Given the description of an element on the screen output the (x, y) to click on. 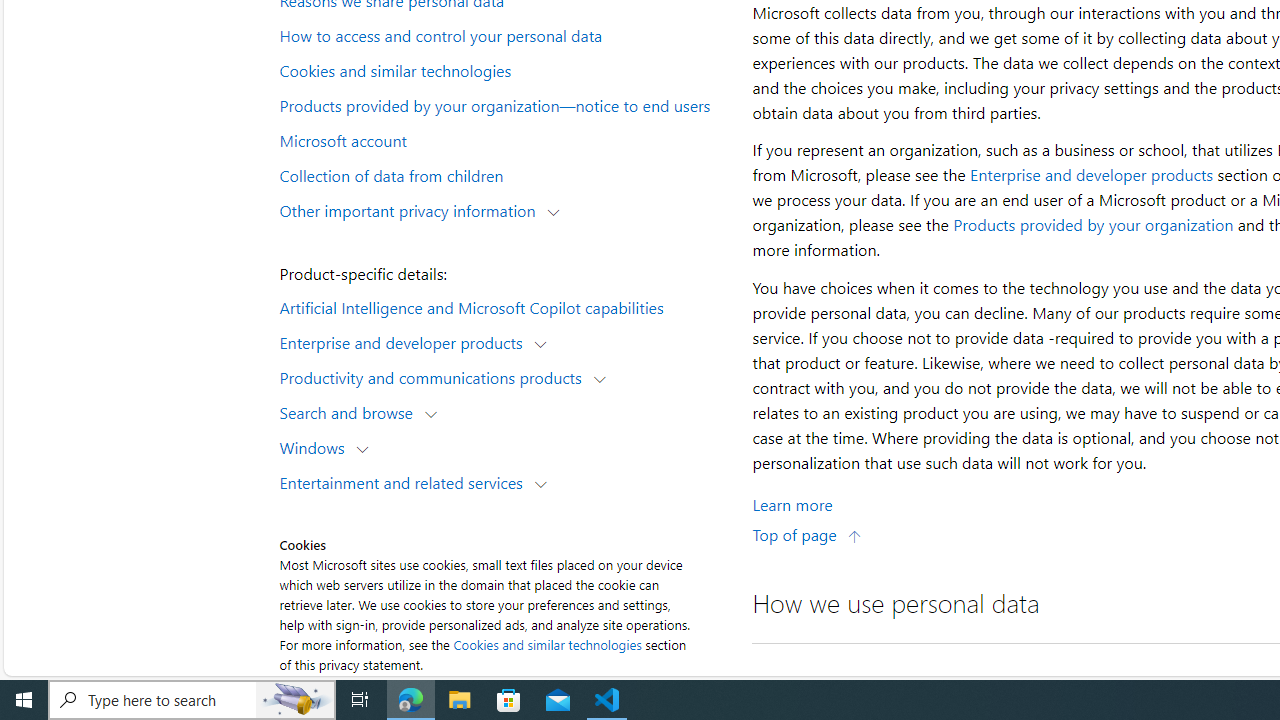
Enterprise and developer products (405, 341)
Search and browse (350, 412)
Collection of data from children (504, 174)
